Given the description of an element on the screen output the (x, y) to click on. 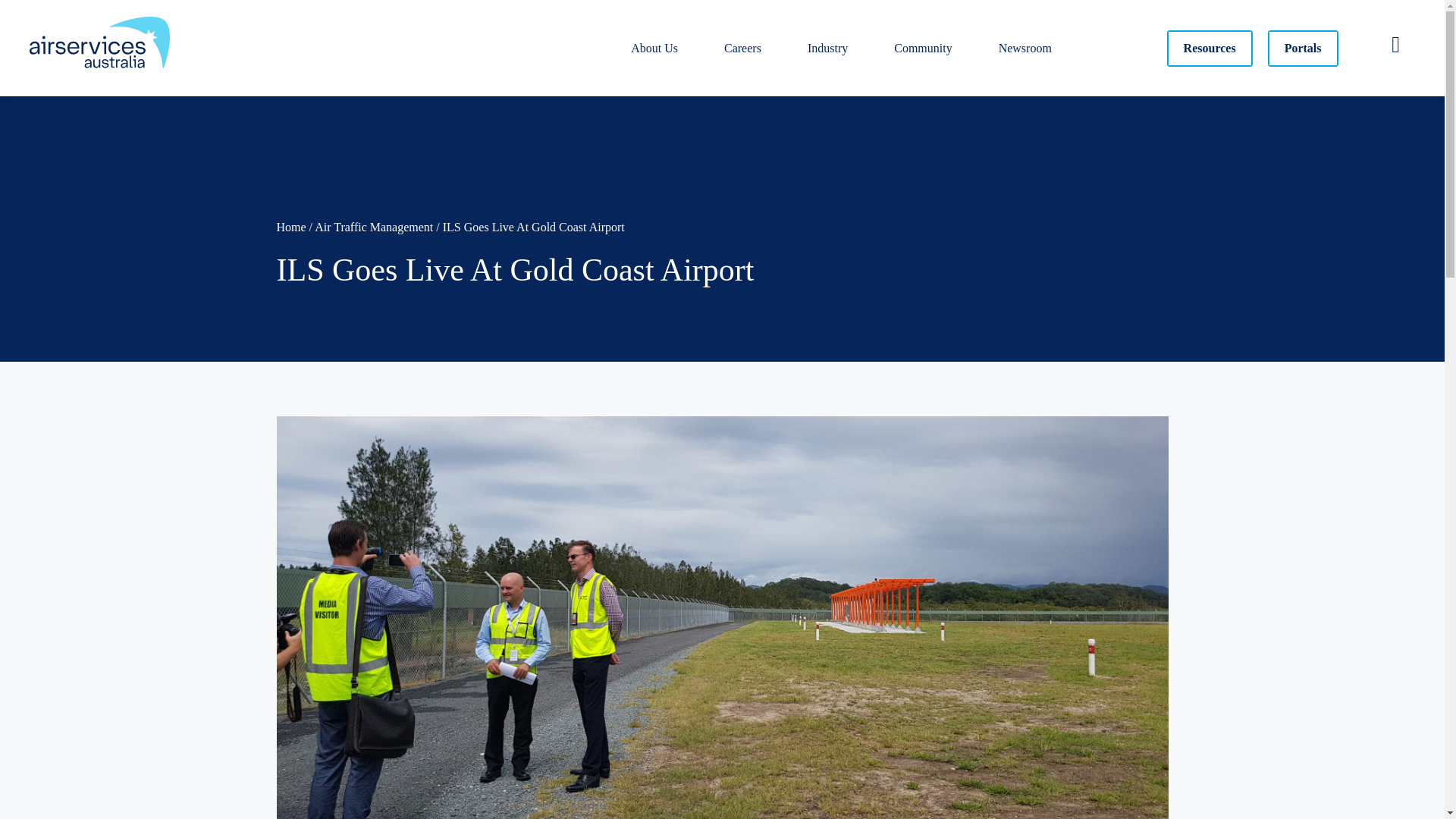
Community (922, 48)
